Given the description of an element on the screen output the (x, y) to click on. 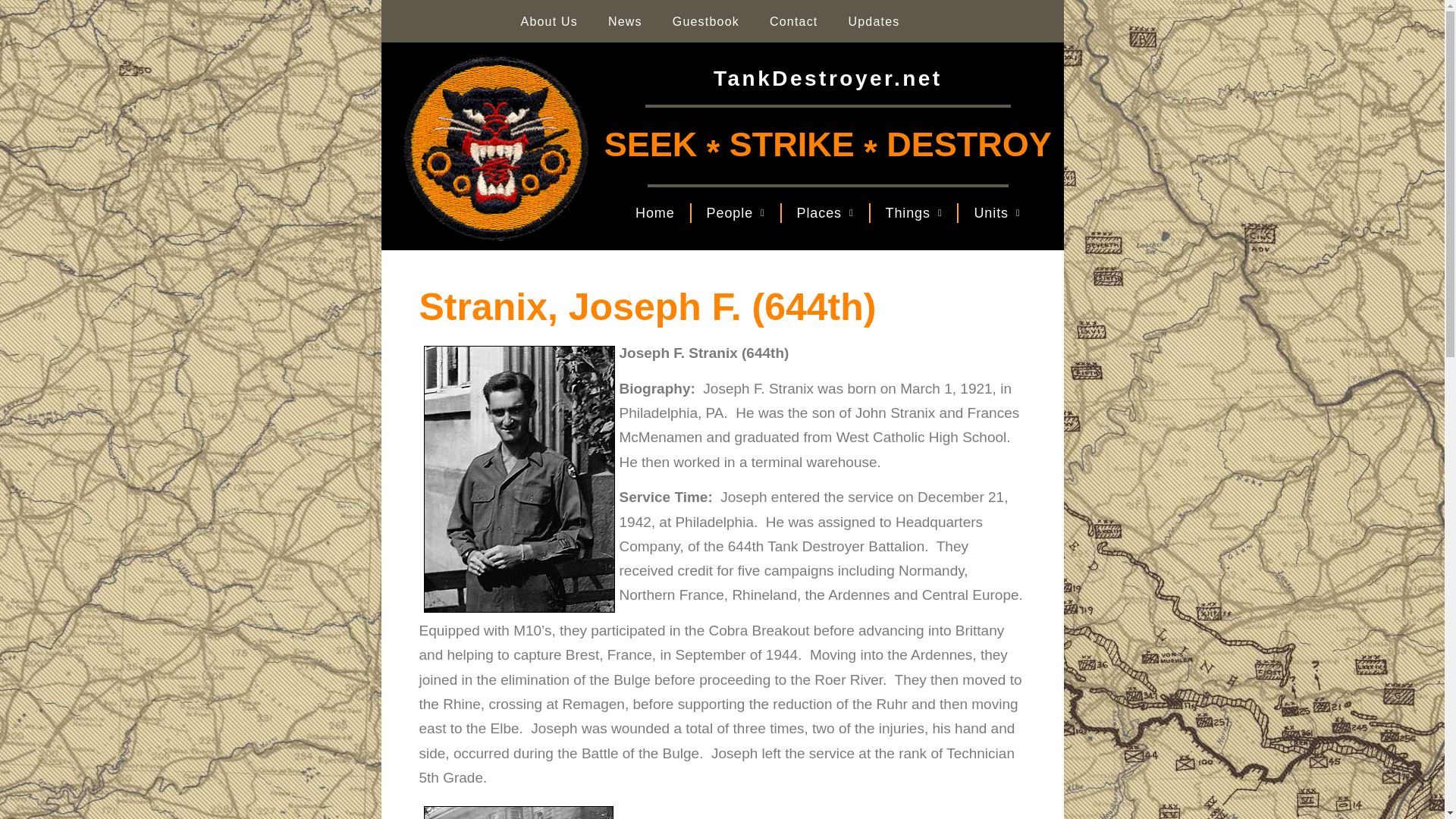
Contact (793, 21)
About Us (548, 21)
Home (655, 213)
Updates (873, 21)
People (735, 213)
Guestbook (706, 21)
Things (914, 213)
Places (825, 213)
News (625, 21)
